Given the description of an element on the screen output the (x, y) to click on. 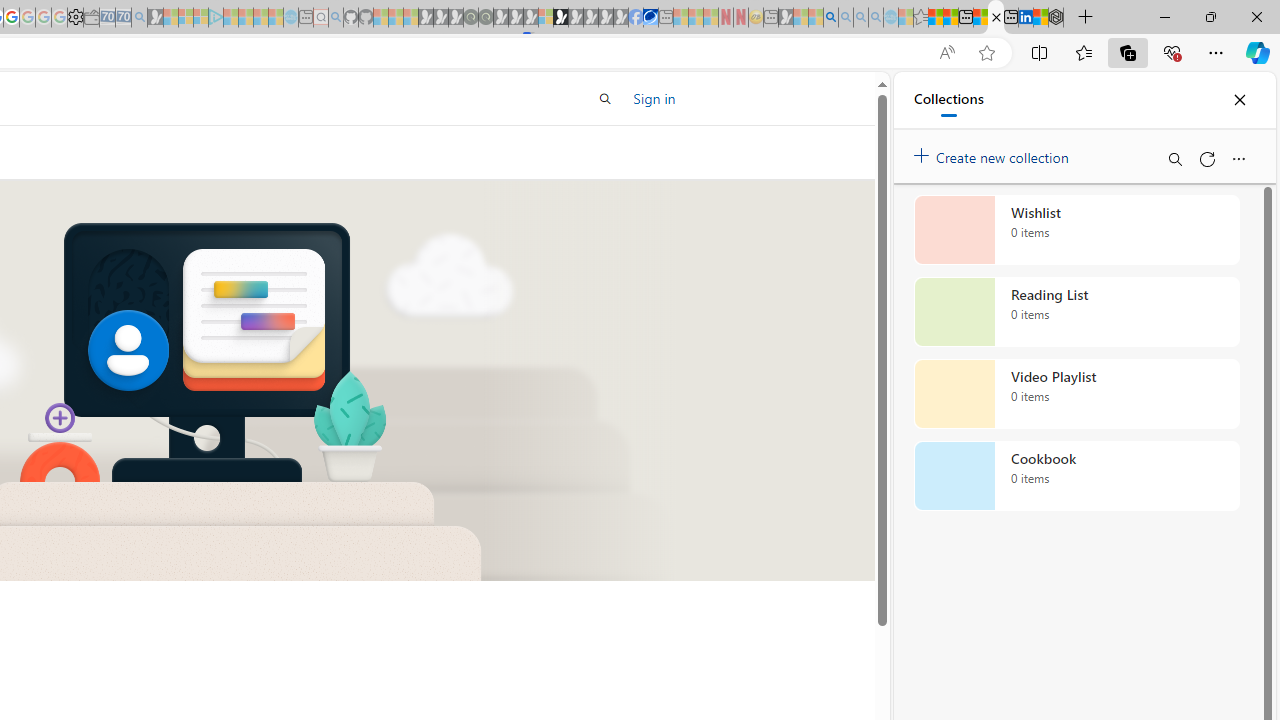
More options menu (1238, 158)
Sign in to your account - Sleeping (545, 17)
